Given the description of an element on the screen output the (x, y) to click on. 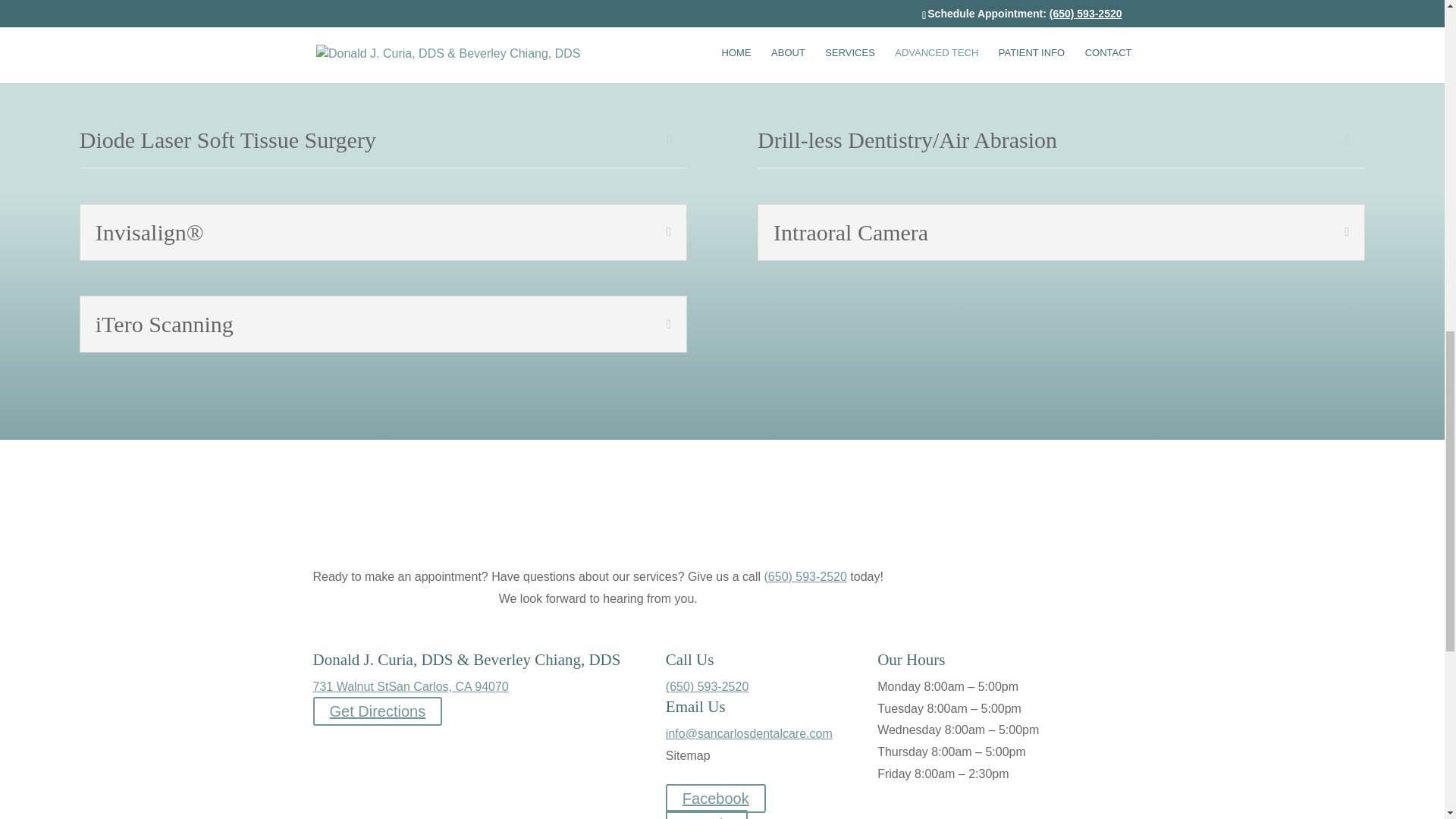
731 Walnut StSan Carlos, CA 94070 (410, 686)
Google (706, 814)
Get Directions (377, 710)
Facebook (715, 798)
